Given the description of an element on the screen output the (x, y) to click on. 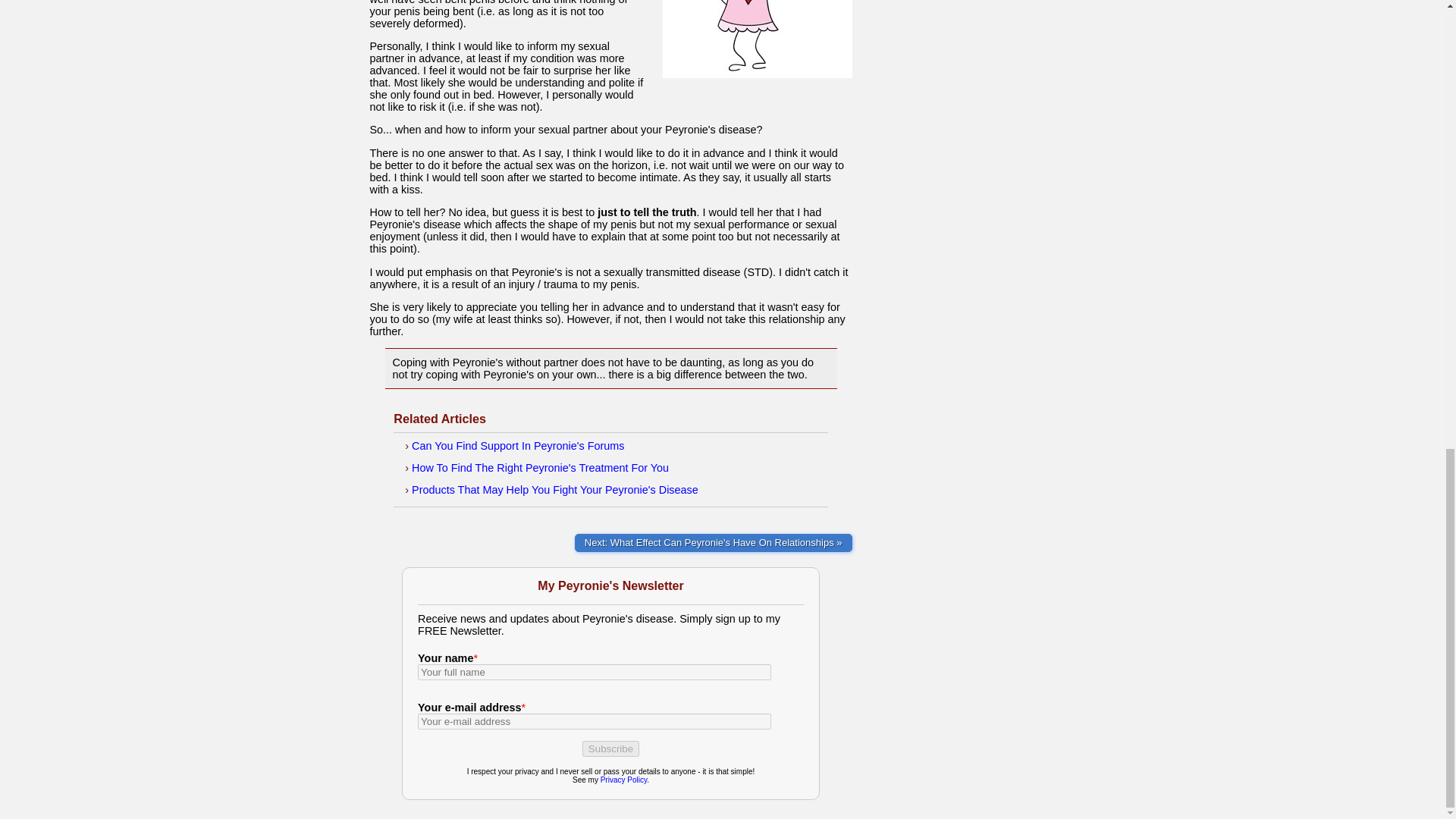
Get through Peyronie's together (713, 542)
Good Peyronie's forums (518, 445)
My reviews of Peyronie's products (555, 490)
Can You Find Support In Peyronie'S Forums (518, 445)
How to find the right treatment for you (540, 467)
Privacy Policy (623, 779)
Products That May Help You Fight Your Peyronie'S Disease (555, 490)
How To Find The Right Peyronie'S Treatment For You (540, 467)
Subscribe (610, 748)
See my privacy policy (623, 779)
